Given the description of an element on the screen output the (x, y) to click on. 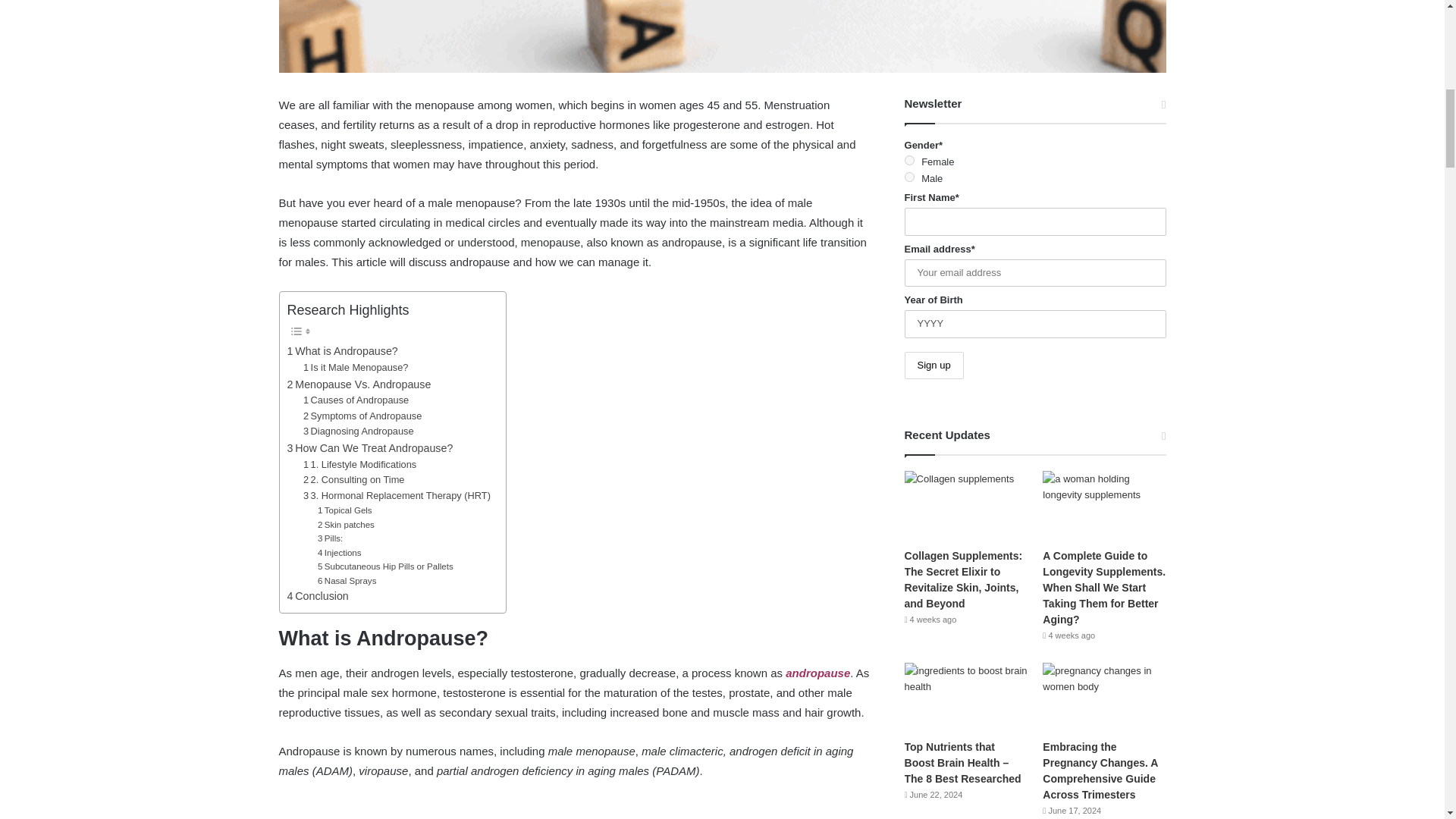
Menopause Vs. Andropause (358, 384)
Diagnosing Andropause (357, 431)
1. Lifestyle Modifications (359, 465)
What is Andropause? (341, 351)
YYYY (1035, 324)
Symptoms of Andropause (362, 416)
2. Consulting on Time (353, 480)
Is it Male Menopause? (355, 367)
Sign up (933, 366)
Female (909, 160)
How Can We Treat Andropause? (369, 448)
Male (909, 176)
Causes of Andropause (355, 400)
